Given the description of an element on the screen output the (x, y) to click on. 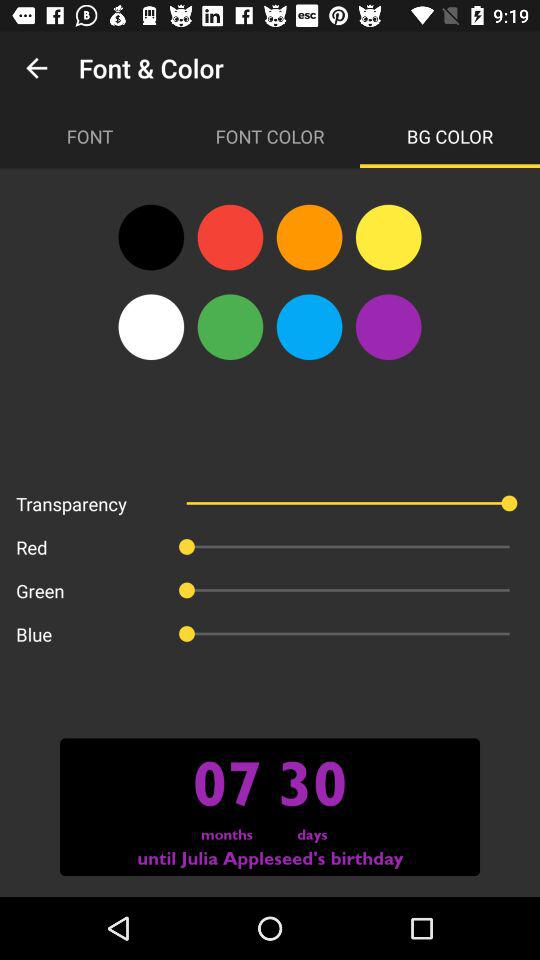
launch the icon next to font color (450, 136)
